Given the description of an element on the screen output the (x, y) to click on. 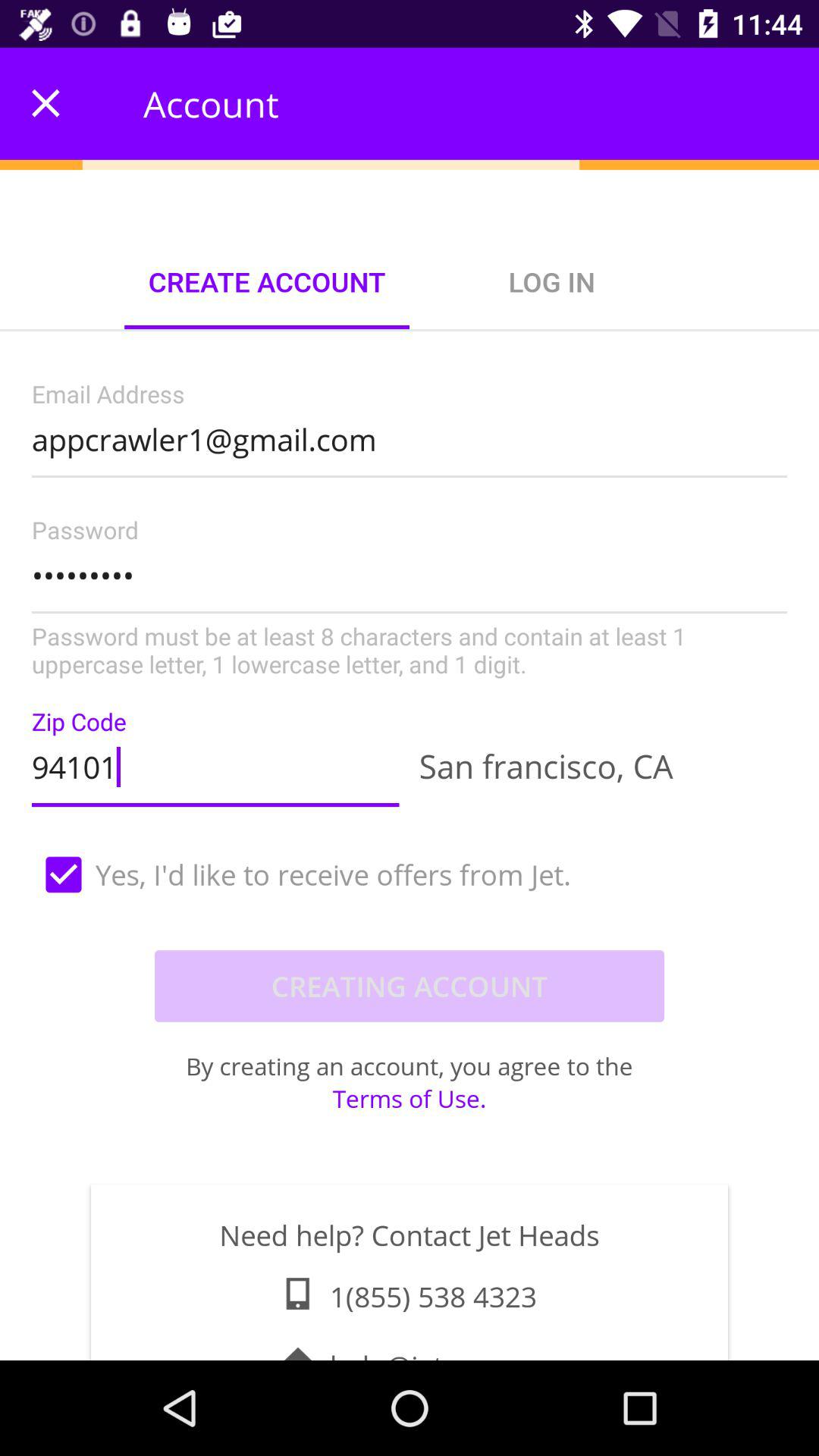
select the item above the creating account icon (409, 874)
